Given the description of an element on the screen output the (x, y) to click on. 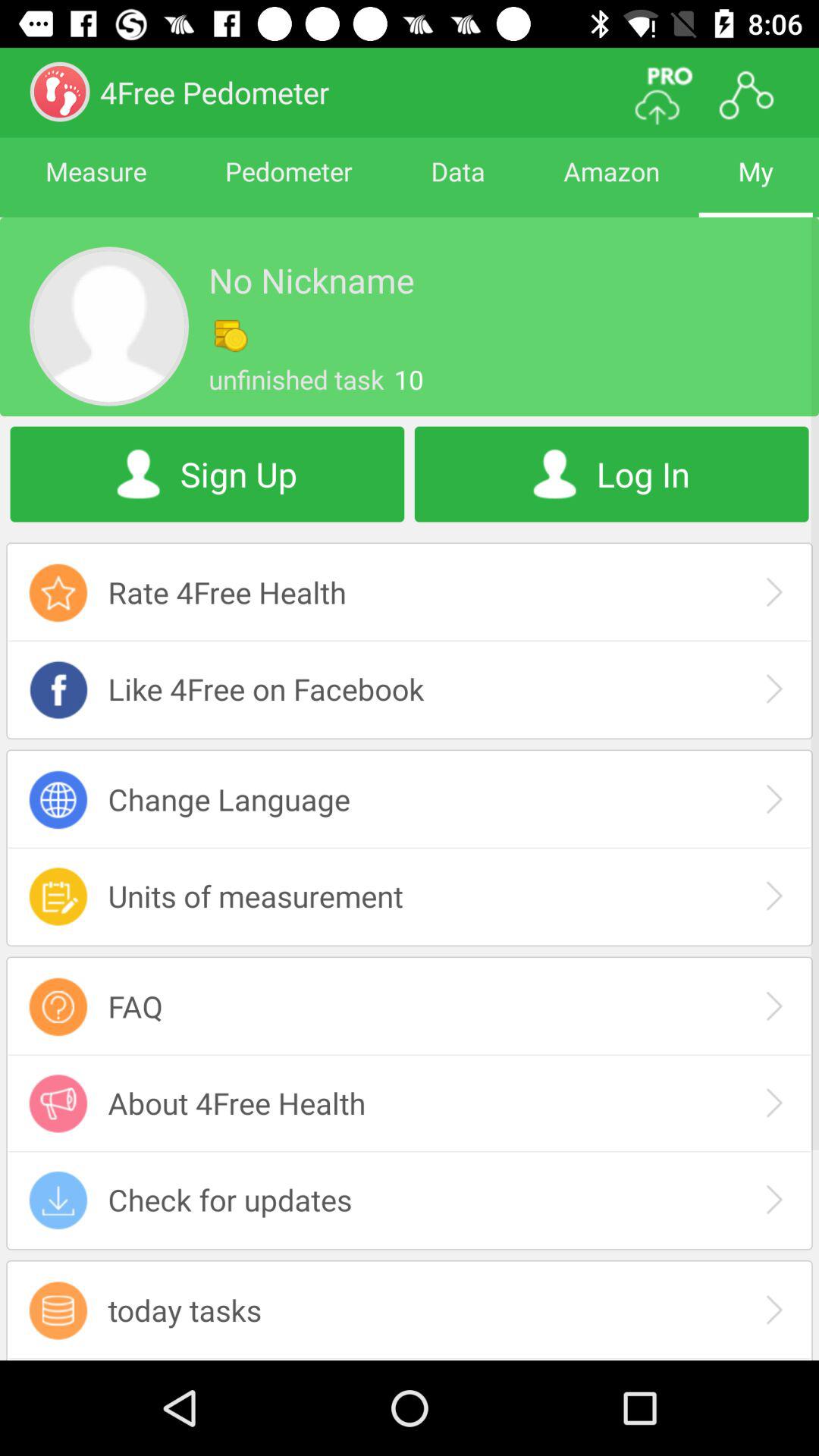
swipe until my item (755, 185)
